Given the description of an element on the screen output the (x, y) to click on. 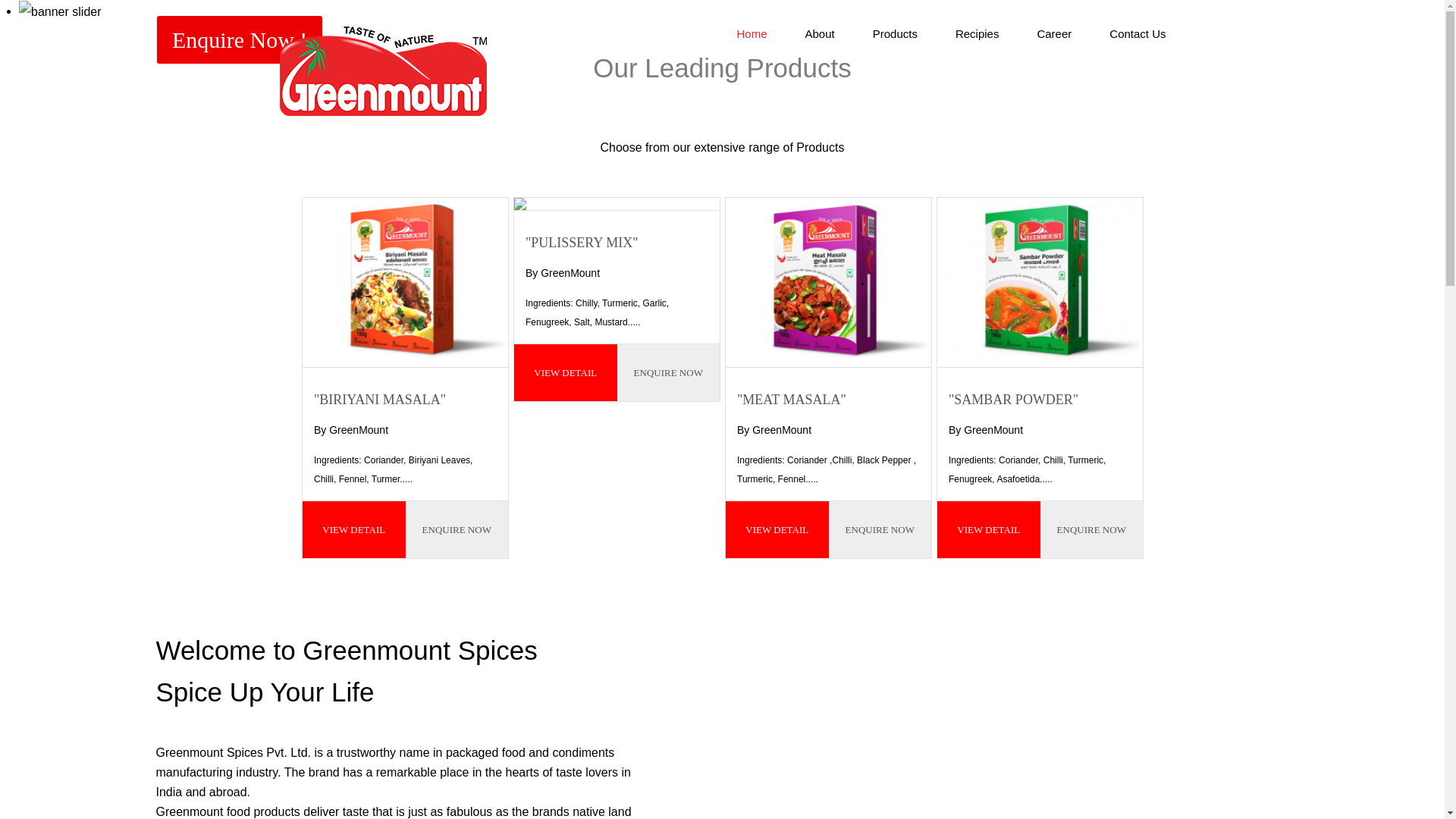
About (819, 33)
ENQUIRE NOW (879, 529)
VIEW DETAIL (565, 372)
Contact Us (1137, 33)
ENQUIRE NOW (456, 529)
Enquire Now ! (239, 39)
Home (751, 33)
ENQUIRE NOW (1091, 529)
VIEW DETAIL (354, 529)
Products (894, 33)
